Given the description of an element on the screen output the (x, y) to click on. 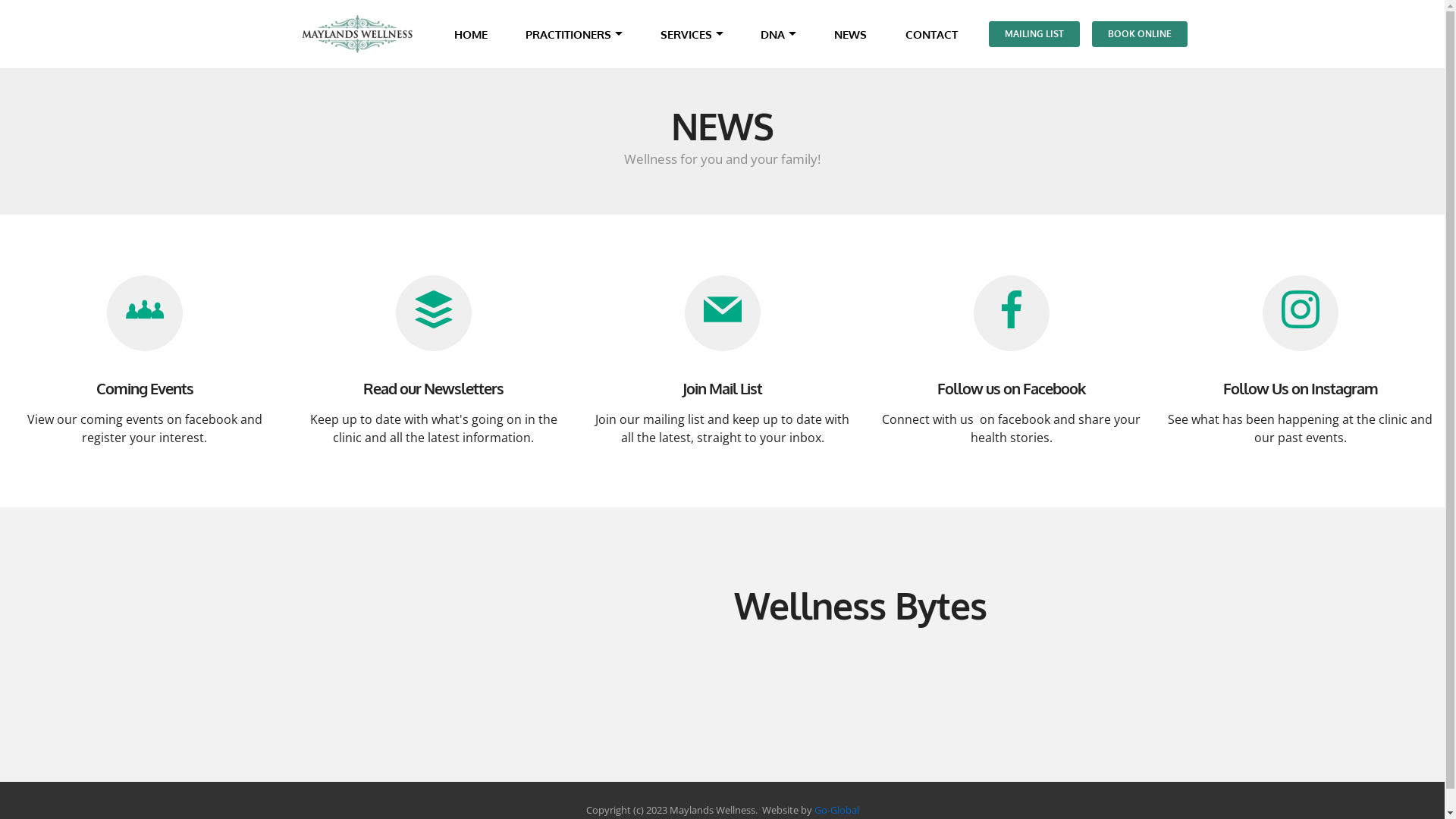
MAILING LIST Element type: text (1033, 34)
Go-Global Element type: text (836, 809)
CONTACT Element type: text (931, 34)
DNA Element type: text (772, 34)
HOME Element type: text (469, 34)
Maylands Wellness Element type: hover (357, 34)
PRACTITIONERS Element type: text (568, 34)
SERVICES Element type: text (686, 34)
NEWS Element type: text (850, 34)
BOOK ONLINE Element type: text (1139, 34)
